Given the description of an element on the screen output the (x, y) to click on. 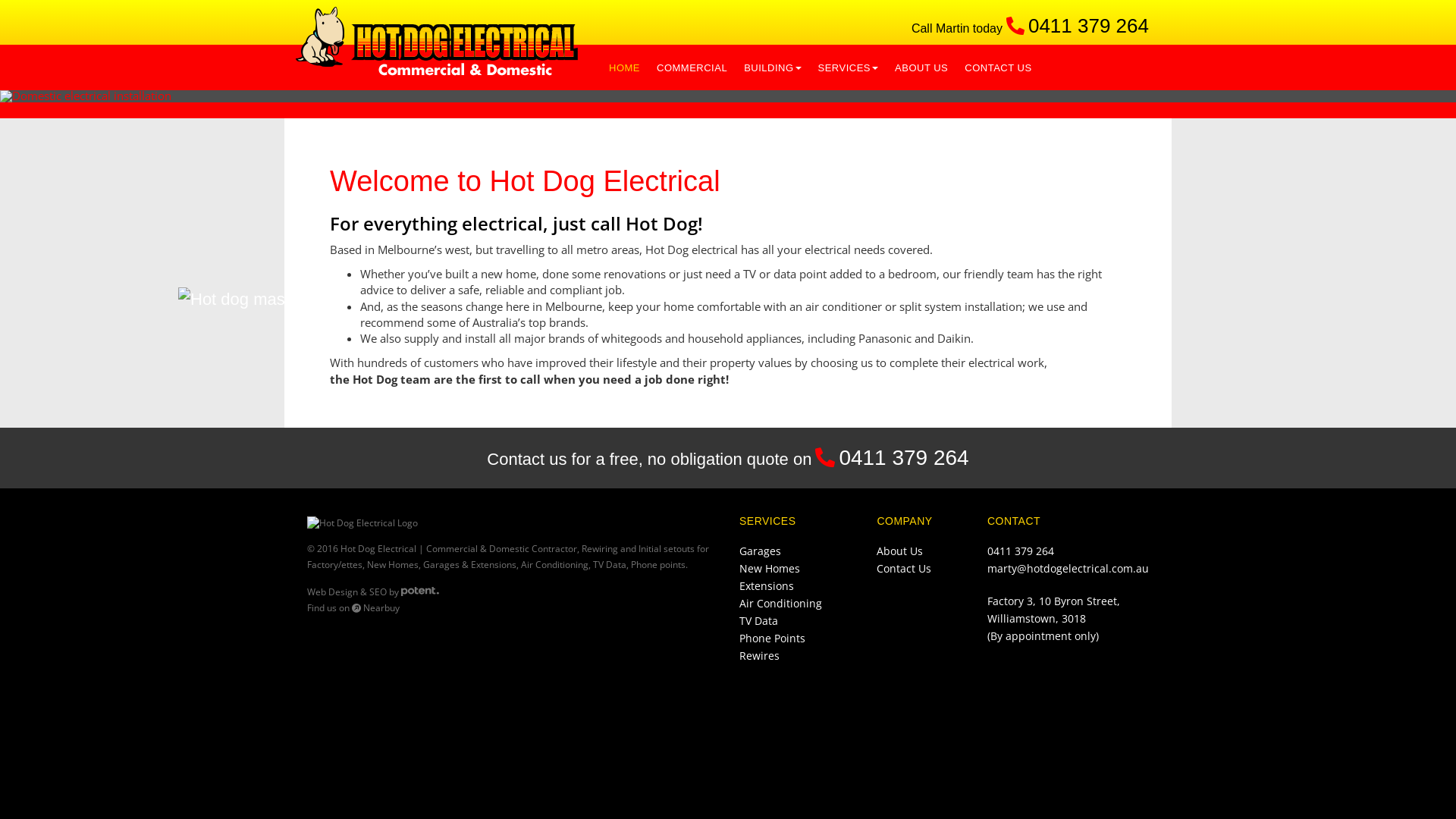
New Homes Element type: text (769, 568)
ABOUT US Element type: text (921, 67)
0411 379 264 Element type: text (903, 457)
Nearbuy Element type: text (375, 607)
0411 379 264 Element type: text (1020, 550)
HOME Element type: text (624, 67)
Air Conditioning Element type: text (780, 603)
Extensions Element type: text (766, 585)
Phone Points Element type: text (772, 637)
CONTACT US Element type: text (997, 67)
TV Data Element type: text (758, 620)
Rewires Element type: text (759, 655)
Contact Us Element type: text (903, 568)
marty@hotdogelectrical.com.au Element type: text (1067, 568)
0411 379 264 Element type: text (1088, 25)
SERVICES Element type: text (848, 67)
About Us Element type: text (899, 550)
COMMERCIAL Element type: text (691, 67)
Garages Element type: text (760, 550)
BUILDING Element type: text (772, 67)
